Given the description of an element on the screen output the (x, y) to click on. 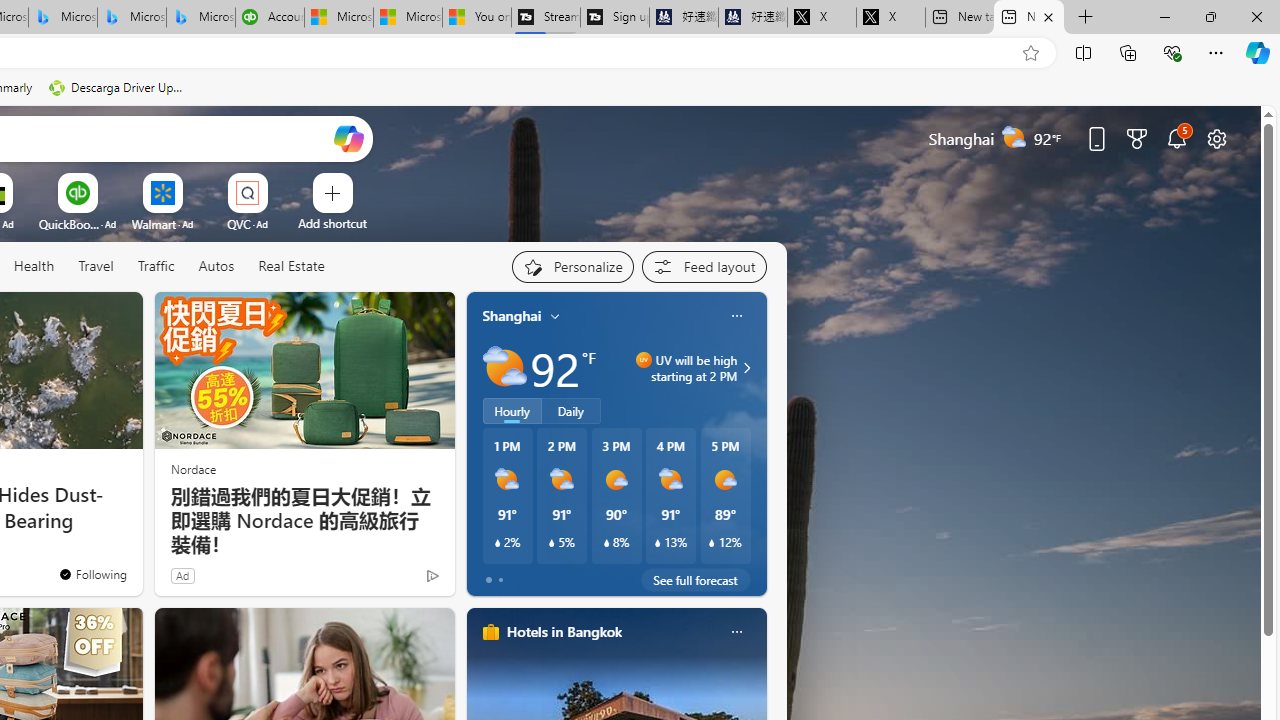
Add a site (332, 223)
hotels-header-icon (490, 632)
UV will be high starting at 2 PM (744, 367)
Health (34, 265)
Traffic (155, 267)
